Given the description of an element on the screen output the (x, y) to click on. 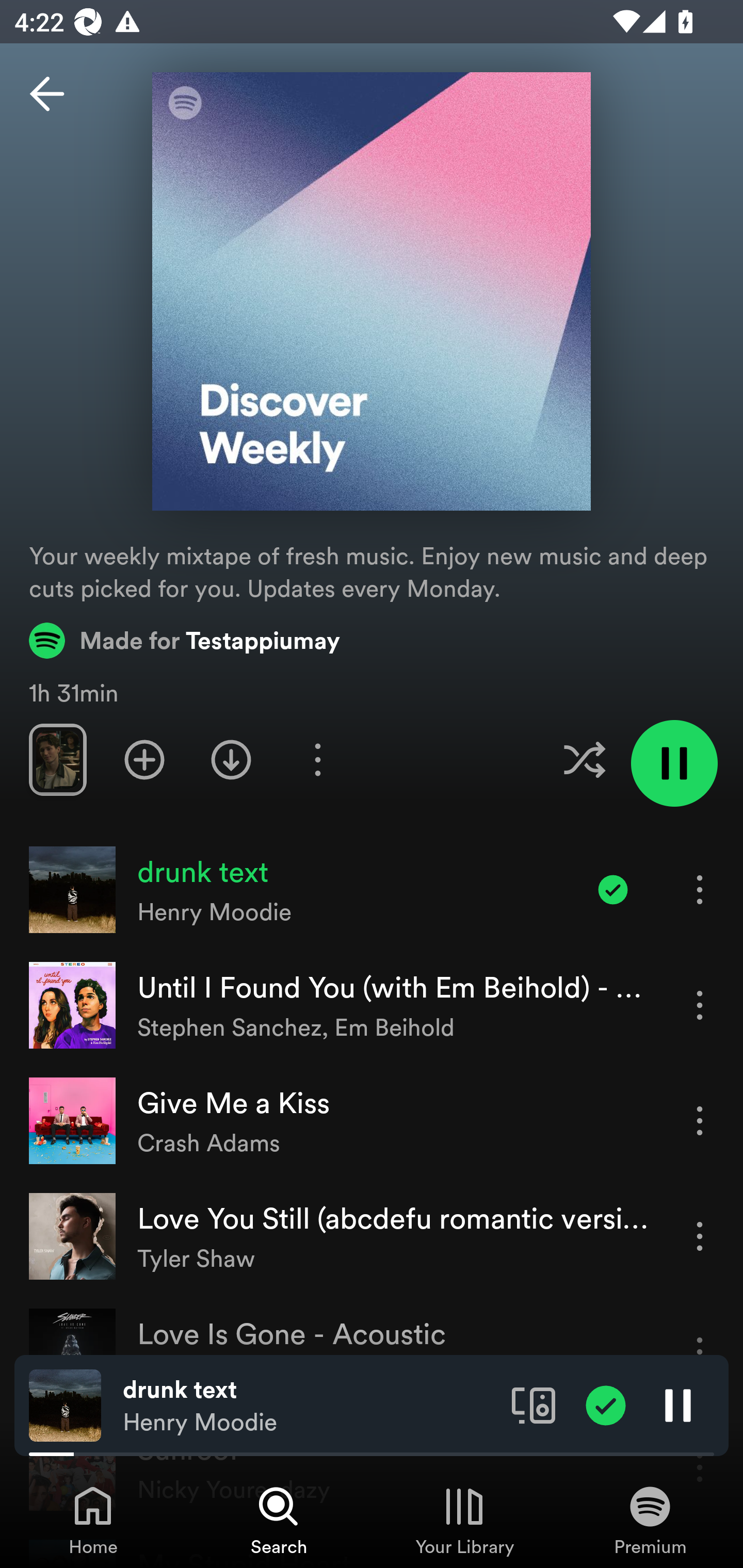
Back (46, 93)
Made for Testappiumay (184, 640)
Swipe through previews of tracks in this playlist. (57, 759)
Add playlist to Your Library (144, 759)
Download (230, 759)
More options for playlist Discover Weekly (317, 759)
Enable shuffle for this playlist (583, 759)
Pause playlist (674, 763)
Item added (612, 889)
More options for song drunk text (699, 889)
More options for song Give Me a Kiss (699, 1120)
drunk text Henry Moodie (309, 1405)
The cover art of the currently playing track (64, 1404)
Connect to a device. Opens the devices menu (533, 1404)
Item added (605, 1404)
Pause (677, 1404)
Home, Tab 1 of 4 Home Home (92, 1519)
Search, Tab 2 of 4 Search Search (278, 1519)
Your Library, Tab 3 of 4 Your Library Your Library (464, 1519)
Premium, Tab 4 of 4 Premium Premium (650, 1519)
